Given the description of an element on the screen output the (x, y) to click on. 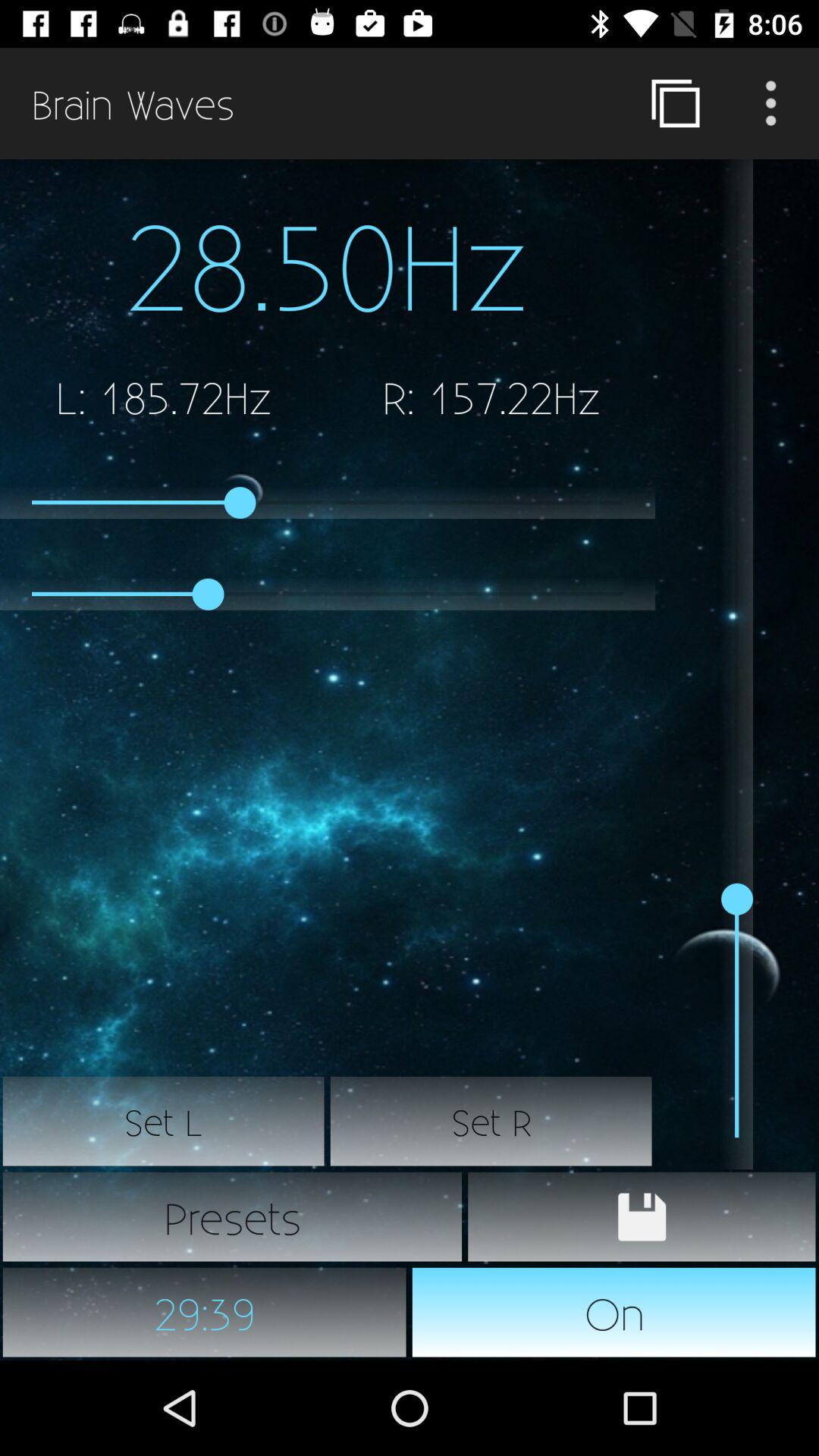
open the item above the presets item (491, 1121)
